Given the description of an element on the screen output the (x, y) to click on. 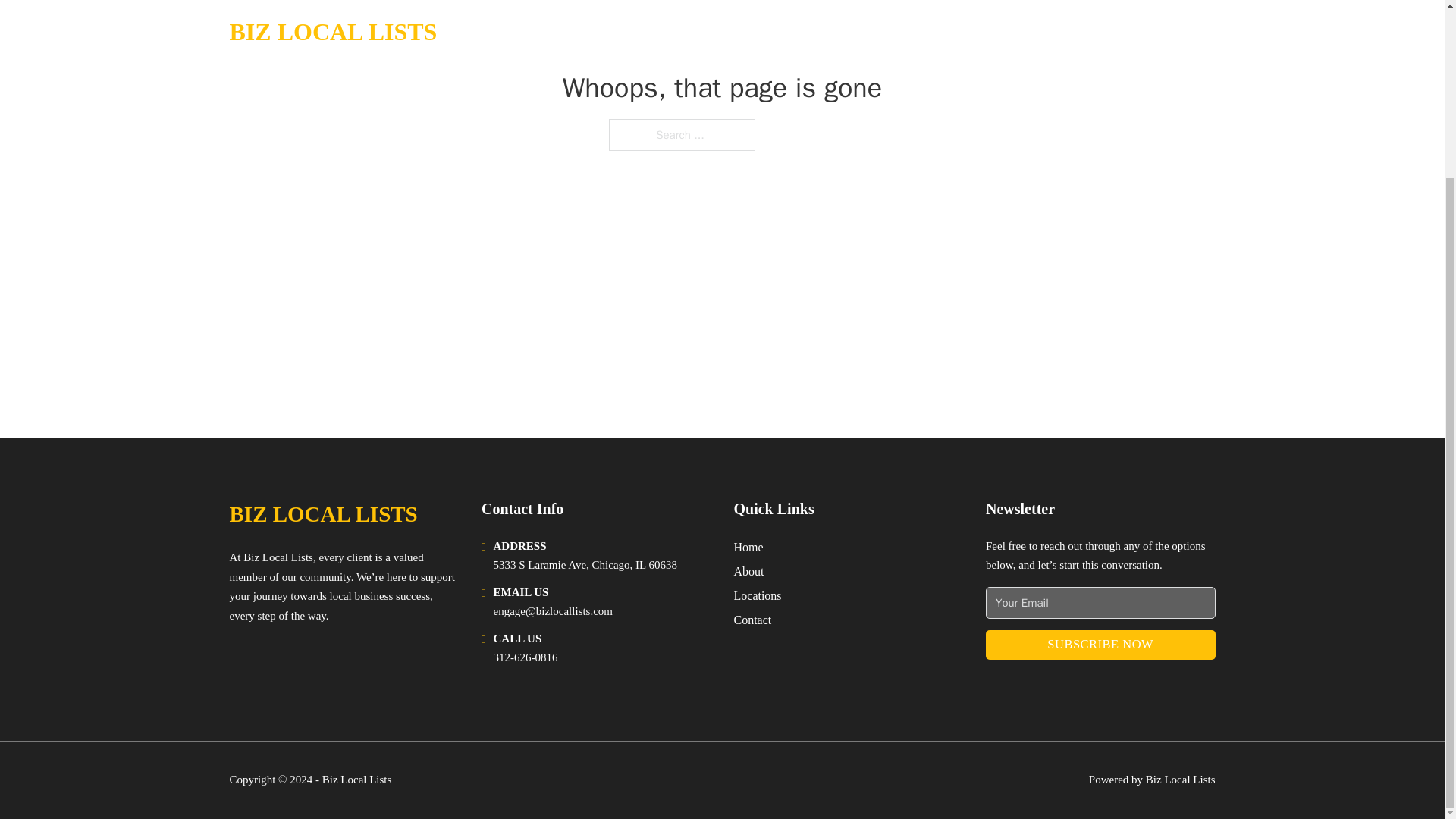
Contact (752, 619)
Locations (757, 595)
312-626-0816 (525, 657)
Home (747, 547)
About (748, 571)
BIZ LOCAL LISTS (322, 514)
SUBSCRIBE NOW (1100, 644)
